Given the description of an element on the screen output the (x, y) to click on. 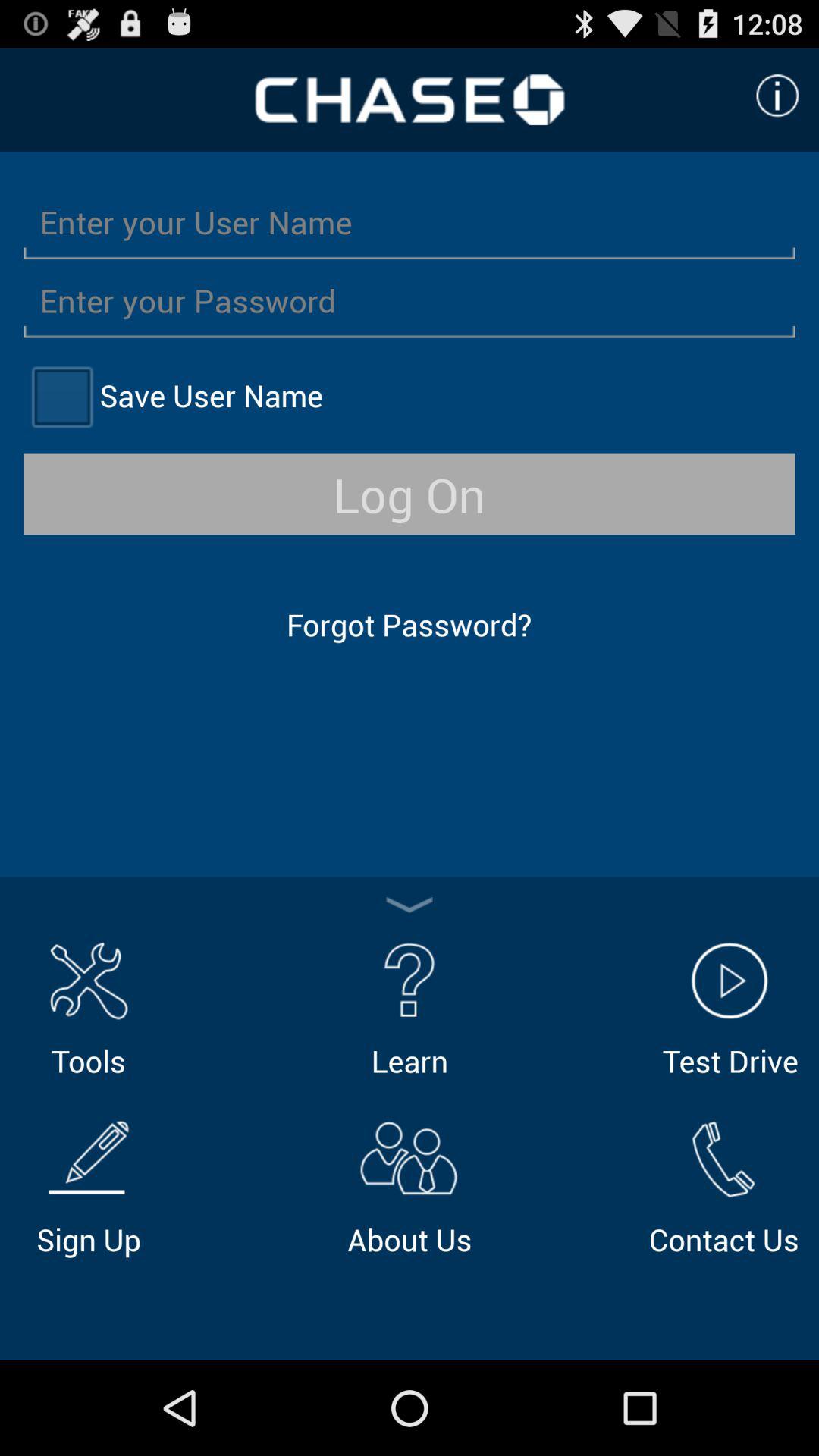
click icon to the right of learn icon (730, 1006)
